Given the description of an element on the screen output the (x, y) to click on. 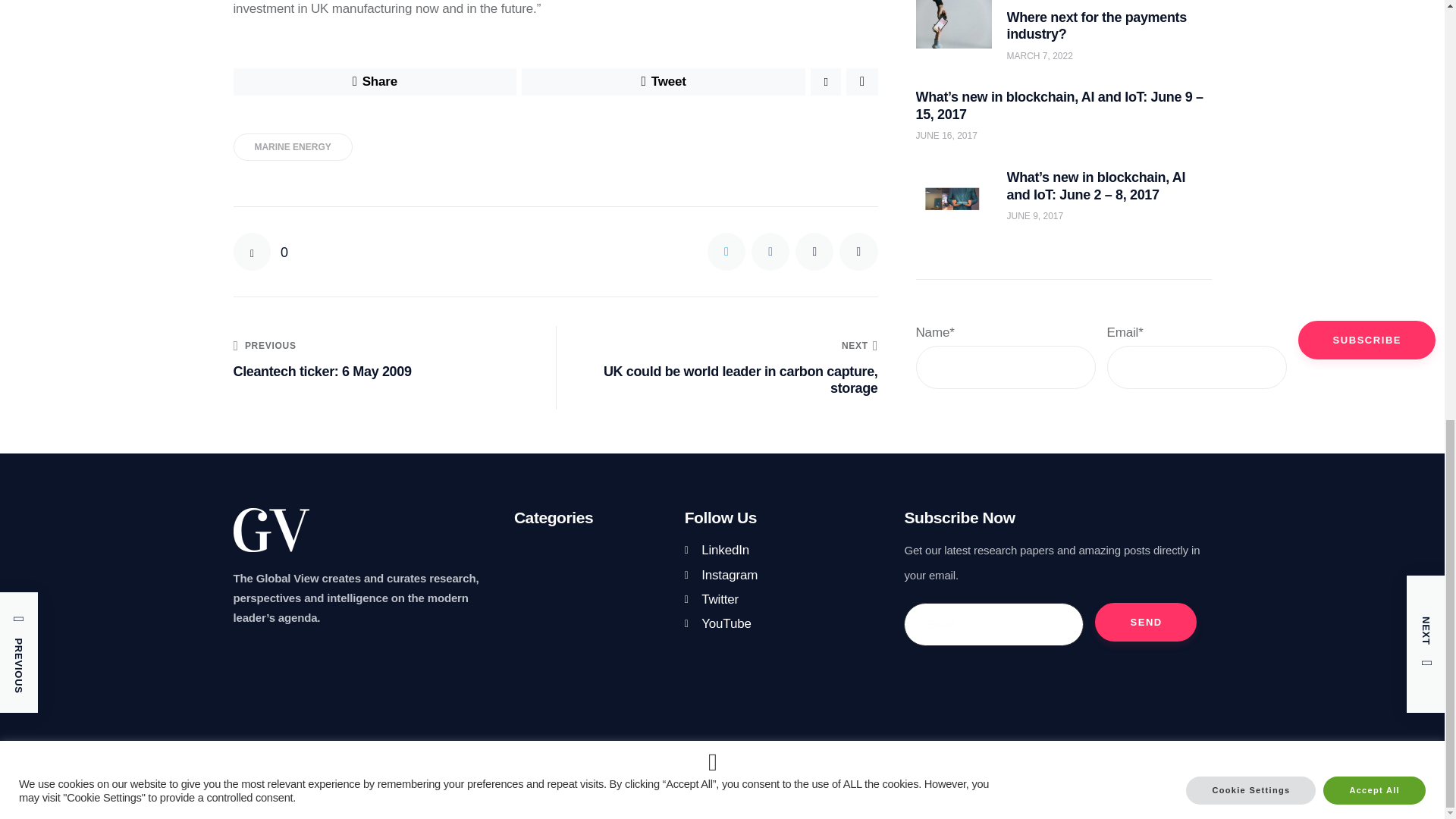
Send (1144, 621)
Like (260, 251)
Copy URL to clipboard (858, 251)
Subscribe (1366, 205)
